Given the description of an element on the screen output the (x, y) to click on. 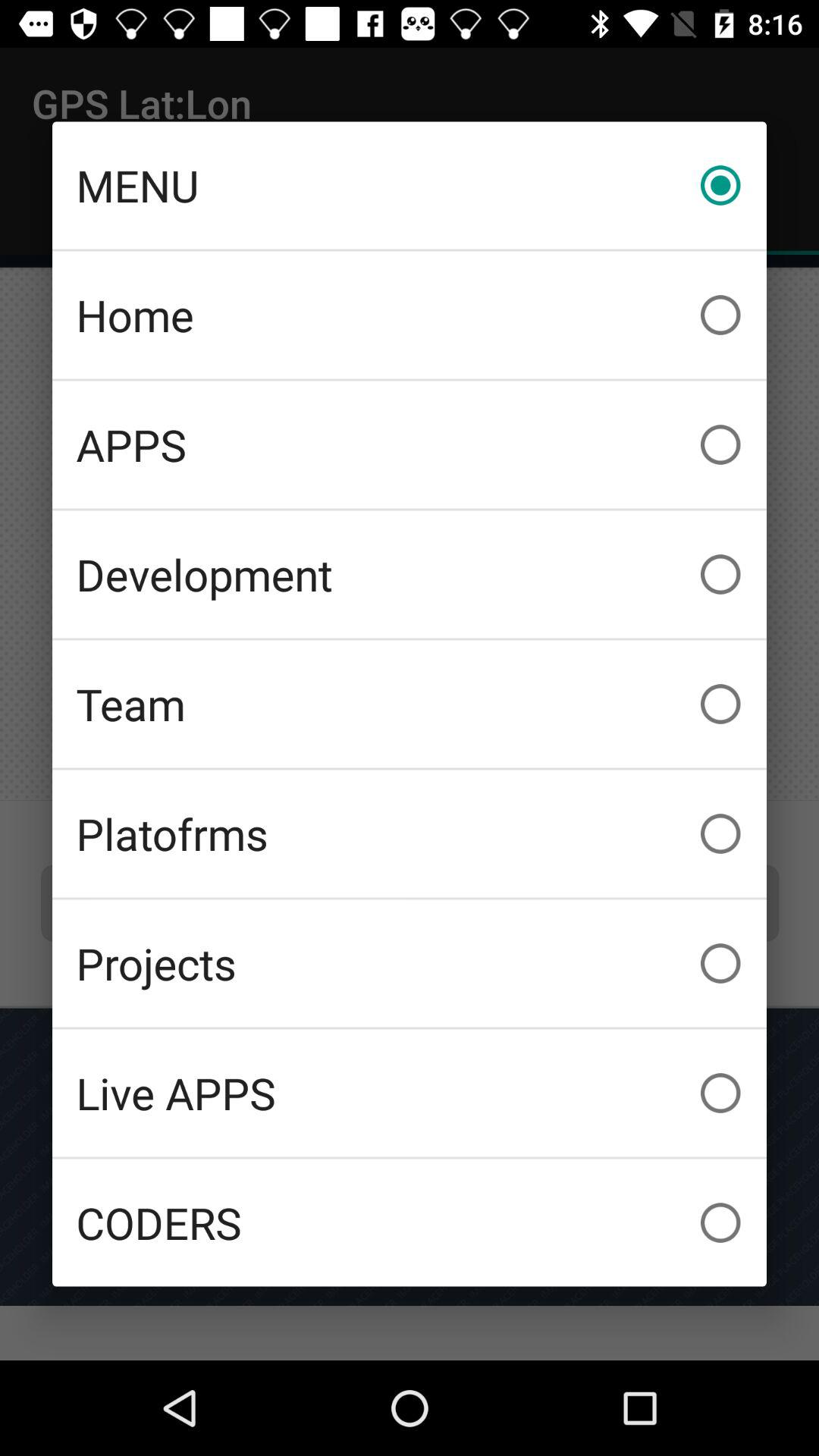
press the icon below team item (409, 833)
